Given the description of an element on the screen output the (x, y) to click on. 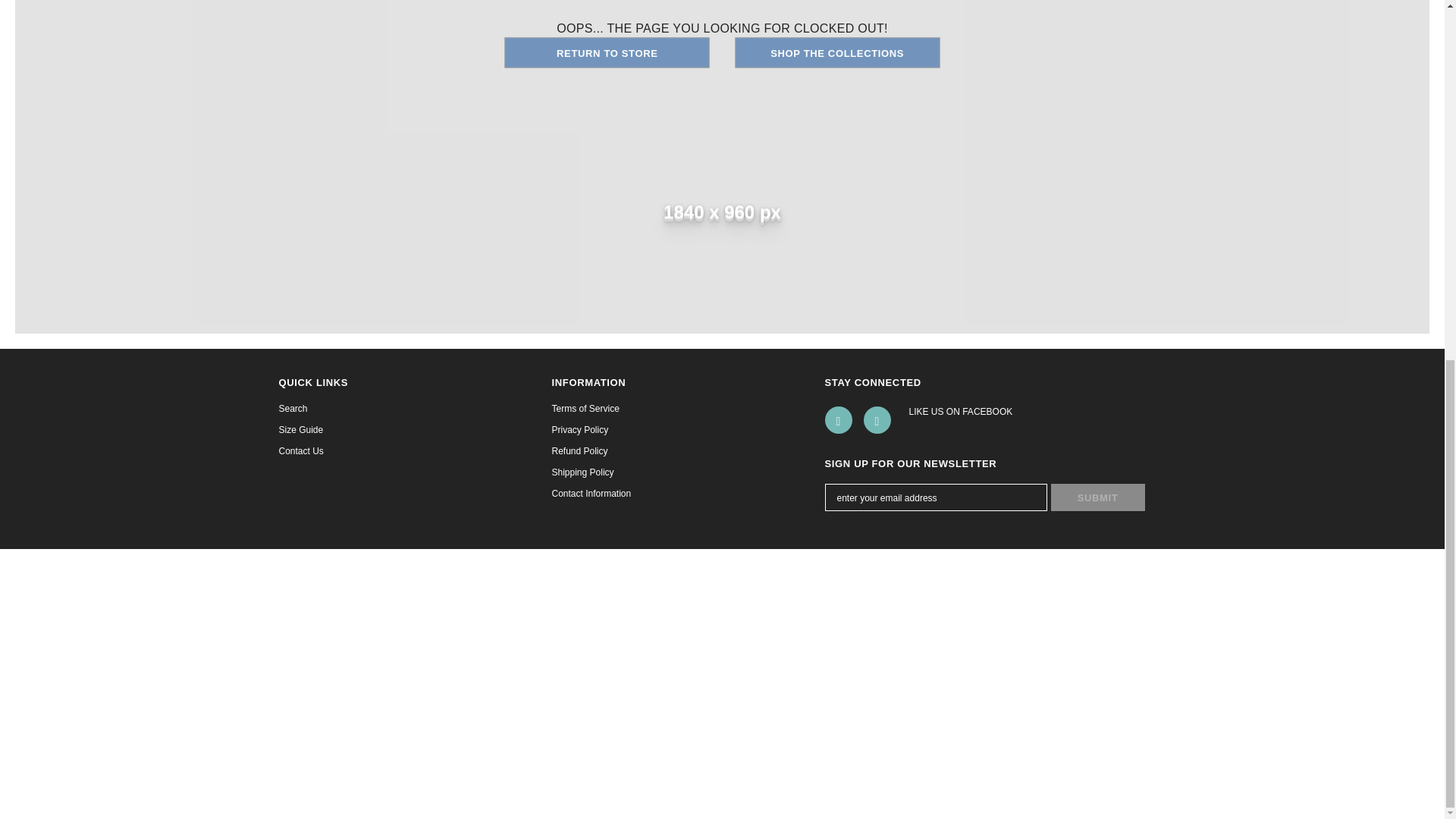
Submit (1097, 497)
